Given the description of an element on the screen output the (x, y) to click on. 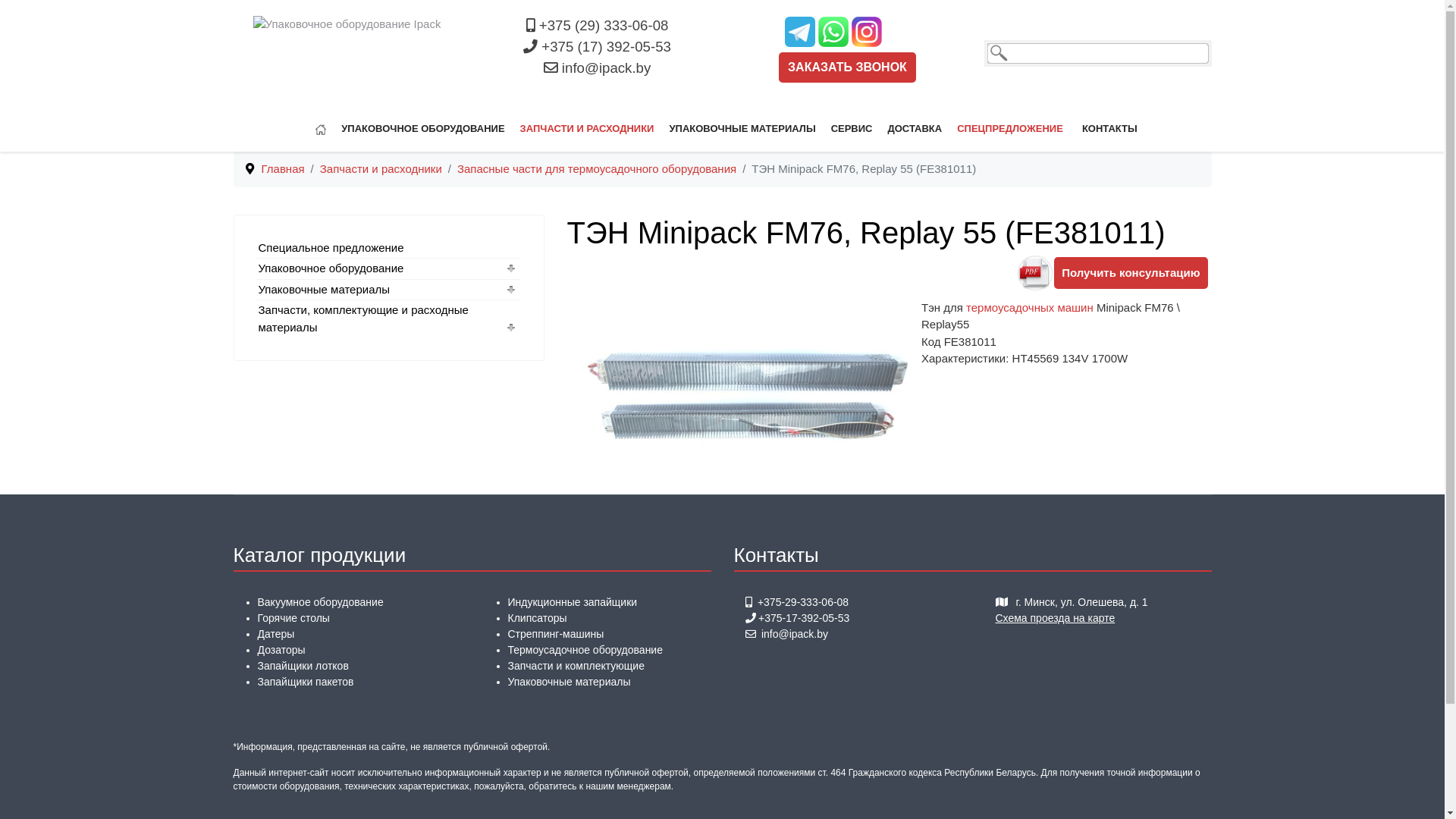
+375 (29) 333-06-08 Element type: text (603, 25)
+375-17-392-05-53 Element type: text (803, 617)
+375-29-333-06-08 Element type: text (802, 602)
info@ipack.by Element type: text (605, 67)
+375 (17) 392-05-53 Element type: text (606, 46)
PDF Element type: hover (1035, 272)
